Given the description of an element on the screen output the (x, y) to click on. 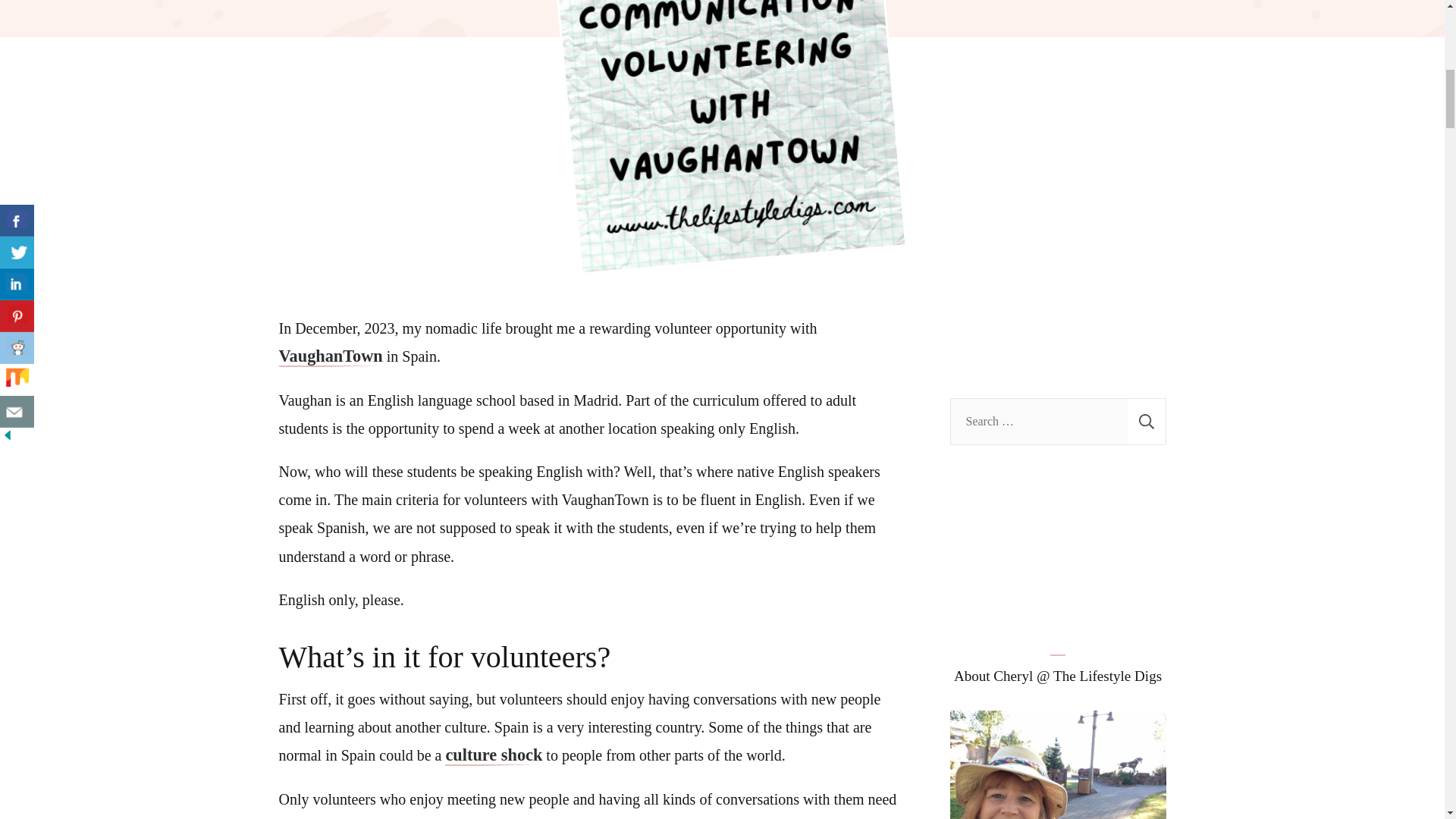
culture shock (493, 755)
VaughanTown (330, 357)
